Given the description of an element on the screen output the (x, y) to click on. 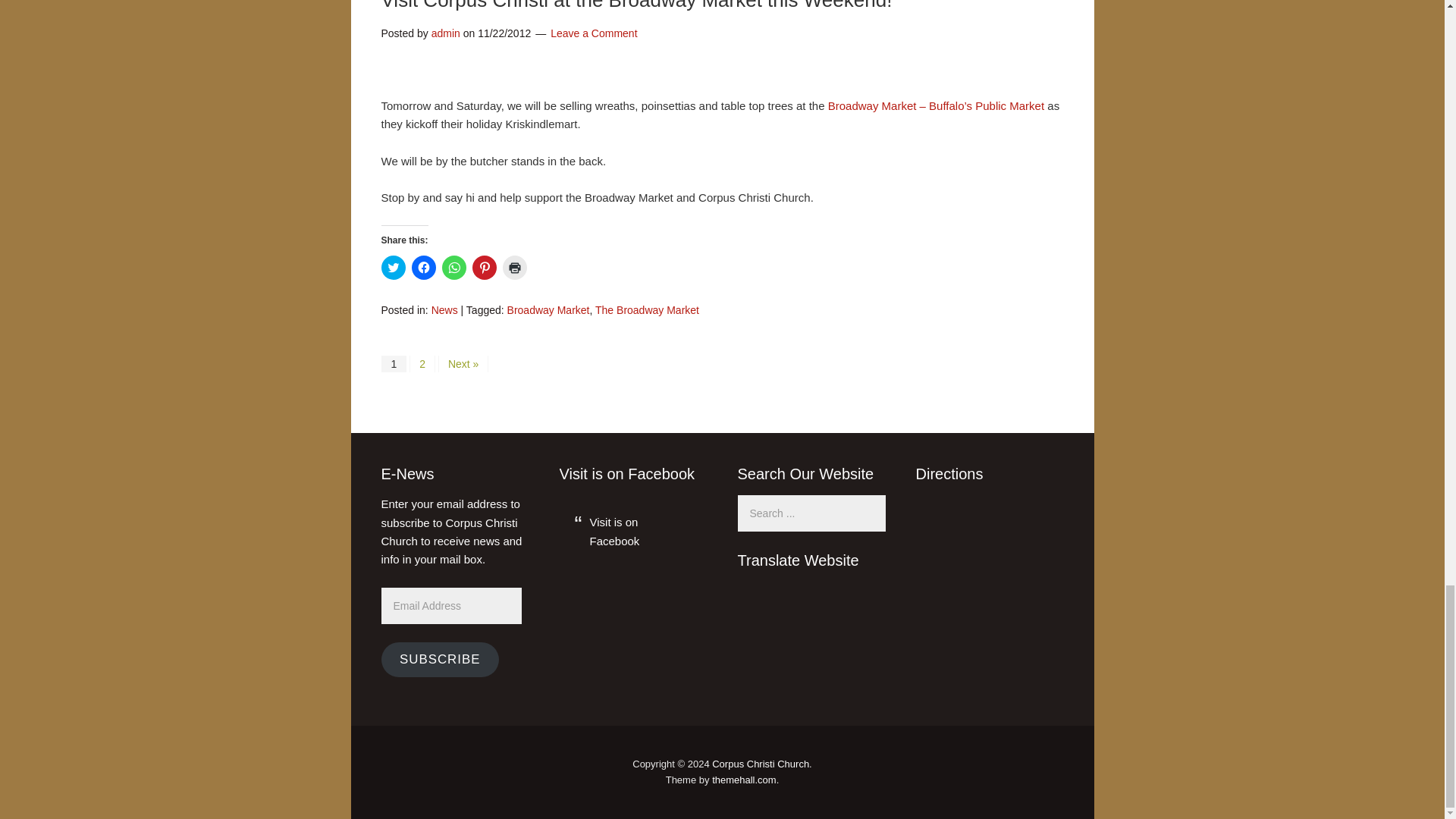
admin (445, 33)
Thursday, November 22, 2012, 11:44 pm (504, 33)
Click to share on Twitter (392, 267)
Visit Corpus Christi at the Broadway Market this Weekend! (635, 5)
Leave a Comment (593, 33)
